Given the description of an element on the screen output the (x, y) to click on. 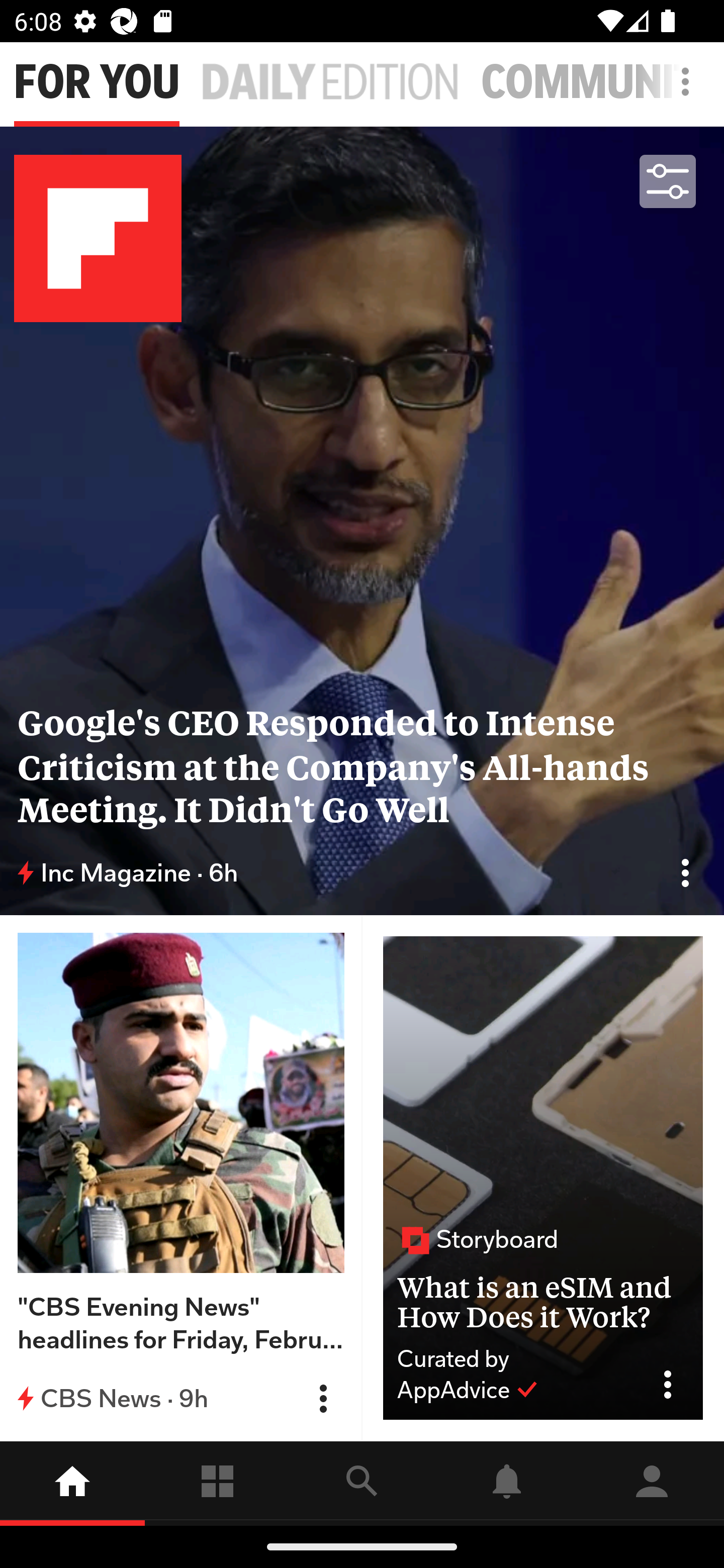
FOR YOU (96, 82)
COMMUNITY (602, 82)
Inc Magazine · 6h Flip into Magazine (362, 873)
Flip into Magazine (685, 872)
Curated by (514, 1359)
Share (674, 1385)
CBS News · 9h Flip into Magazine (181, 1398)
Flip into Magazine (323, 1398)
AppAdvice (467, 1389)
home (72, 1482)
Following (216, 1482)
explore (361, 1482)
Notifications (506, 1482)
Profile (651, 1482)
